Given the description of an element on the screen output the (x, y) to click on. 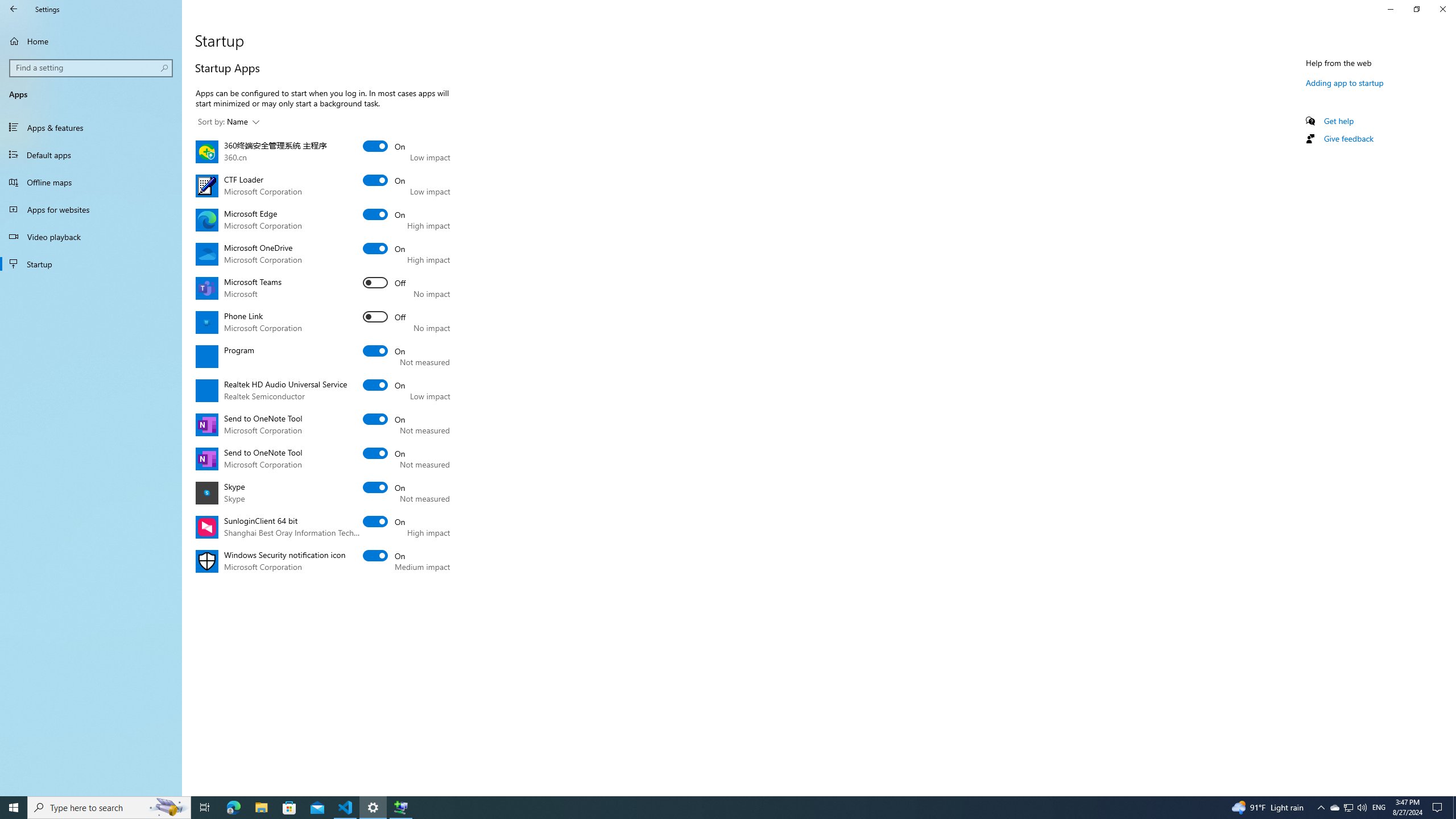
Realtek HD Audio Universal Service (384, 384)
